Given the description of an element on the screen output the (x, y) to click on. 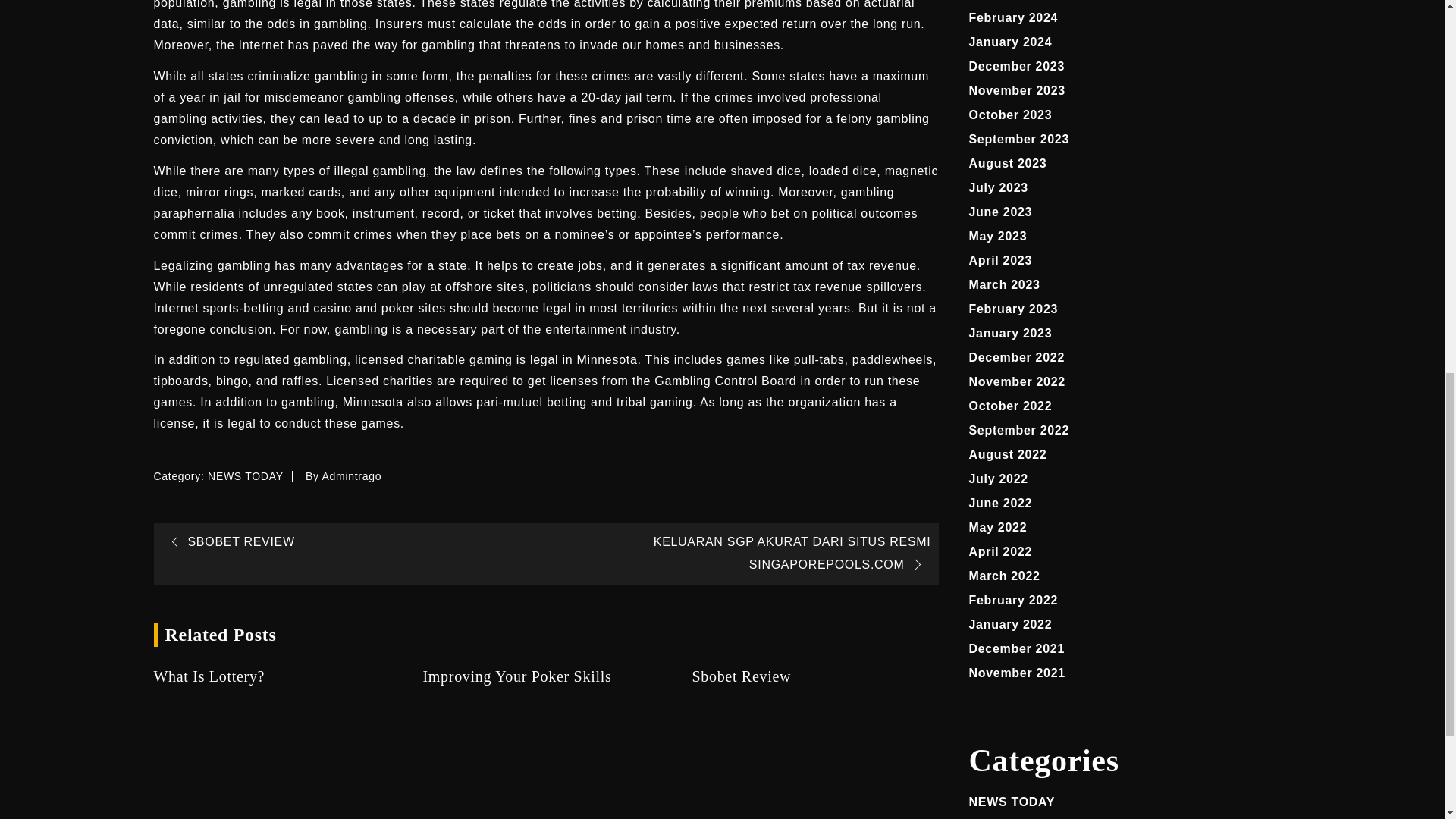
October 2022 (1010, 405)
September 2023 (1019, 138)
July 2023 (998, 187)
April 2023 (1000, 259)
December 2023 (1017, 65)
February 2024 (1013, 17)
Improving Your Poker Skills (545, 676)
November 2023 (1017, 90)
NEWS TODAY (245, 476)
February 2023 (1013, 308)
